Given the description of an element on the screen output the (x, y) to click on. 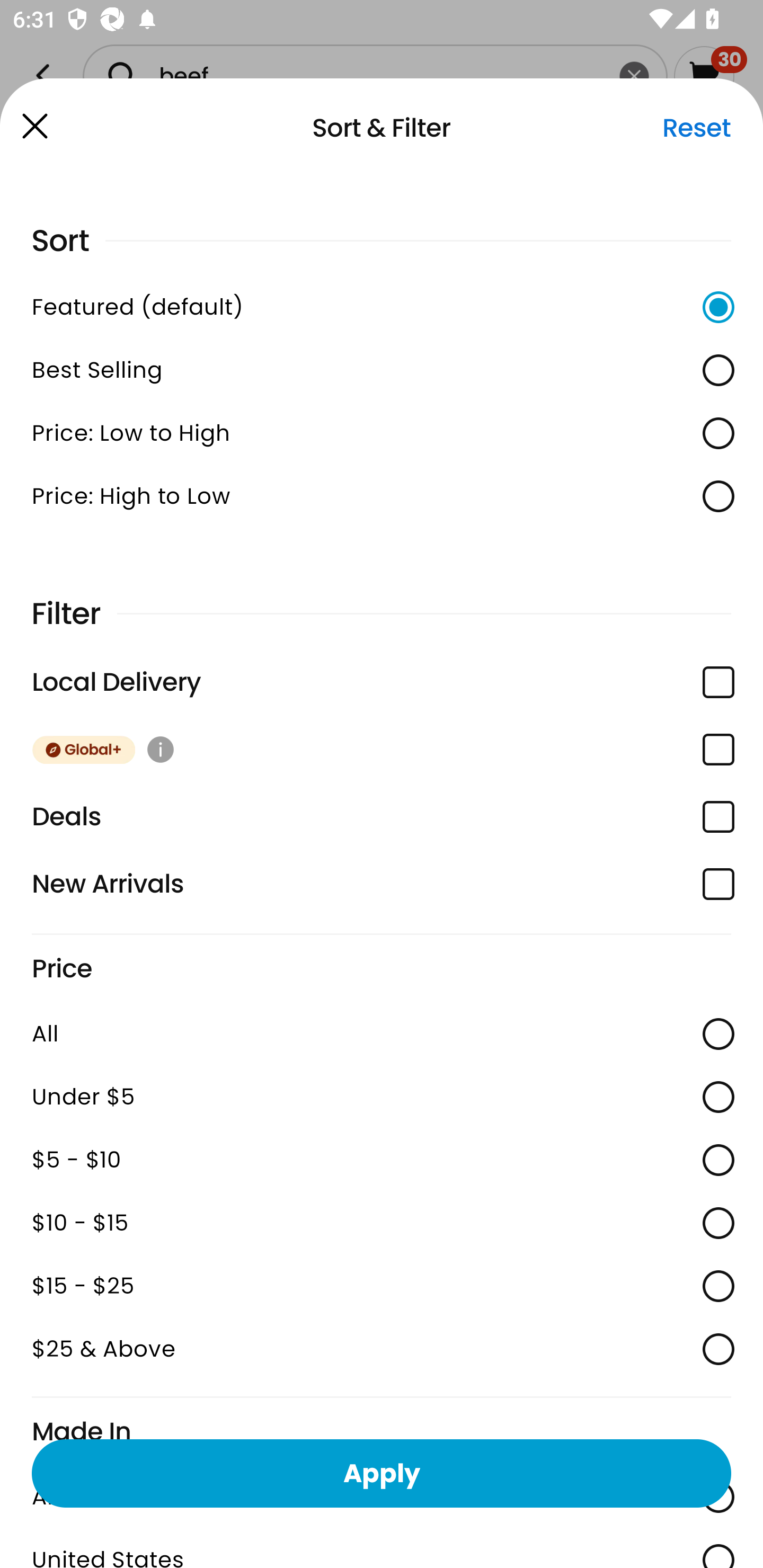
Reset (696, 127)
Apply (381, 1472)
